Given the description of an element on the screen output the (x, y) to click on. 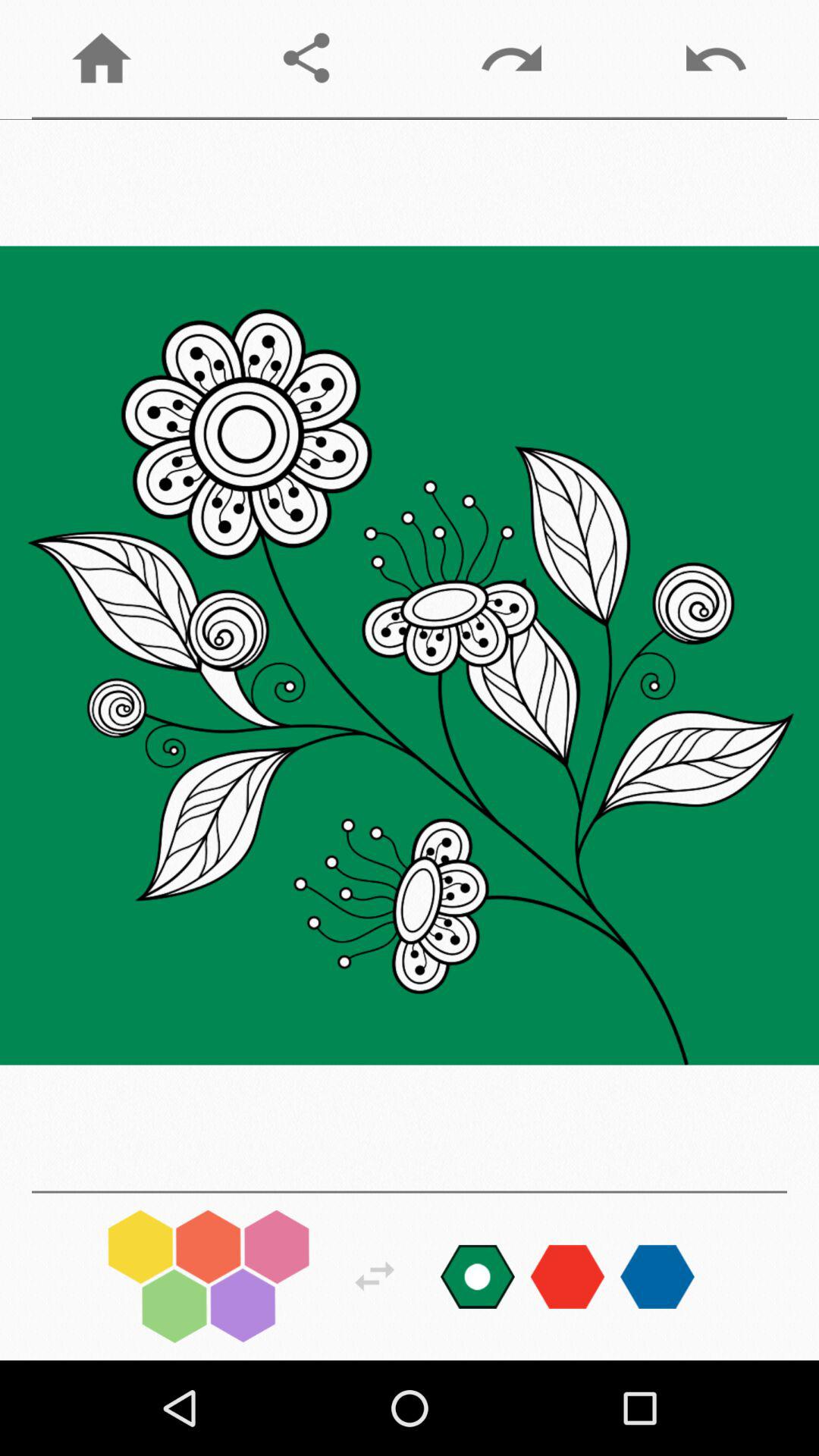
color choose (567, 1276)
